Given the description of an element on the screen output the (x, y) to click on. 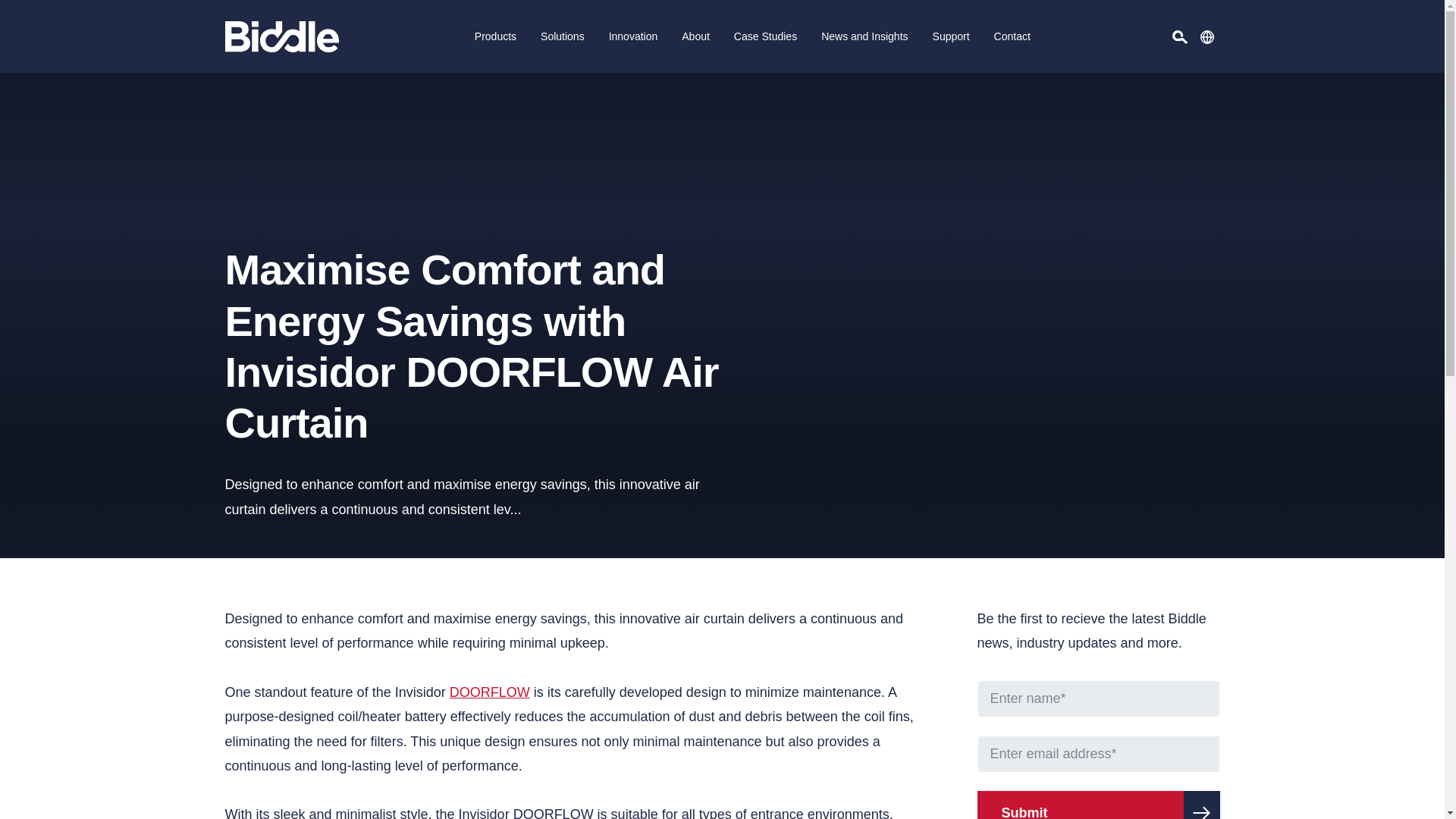
Globe icon (1205, 37)
About (695, 36)
Search icon (1180, 37)
Case Studies (765, 36)
Solutions (562, 36)
Innovation (632, 36)
Products (495, 36)
Biddle logo (280, 36)
Biddle logo (280, 36)
News and Insights (864, 36)
